Given the description of an element on the screen output the (x, y) to click on. 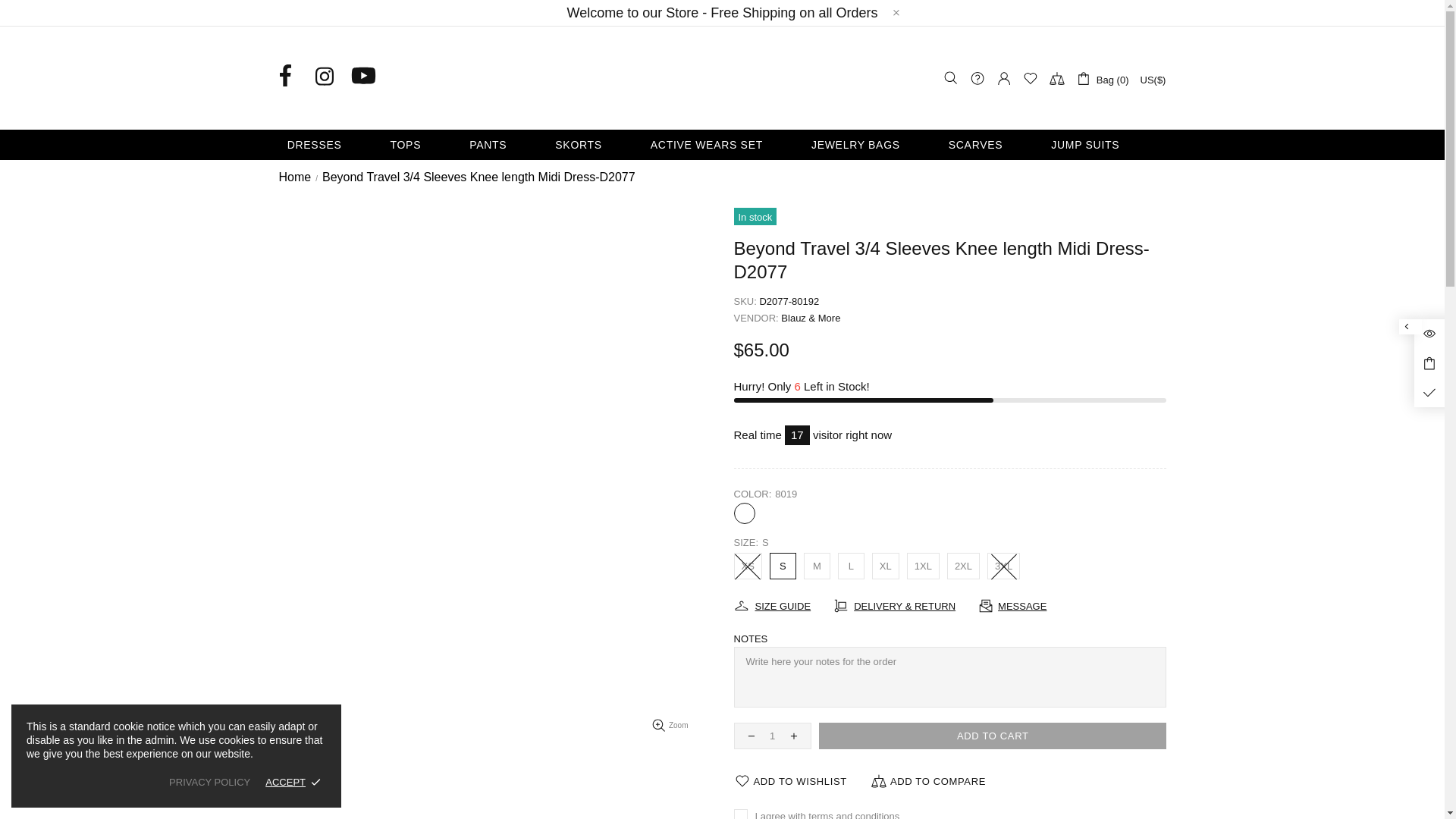
SUBSCRIBE! (1117, 468)
DRESSES (333, 144)
ACTIVE WEARS SET (725, 144)
ADD TO COMPARE (928, 781)
SCARVES (994, 144)
TOPS (424, 144)
Home (294, 177)
ADD TO WISHLIST (790, 781)
JEWELRY BAGS (874, 144)
ADD TO CART (992, 735)
